Given the description of an element on the screen output the (x, y) to click on. 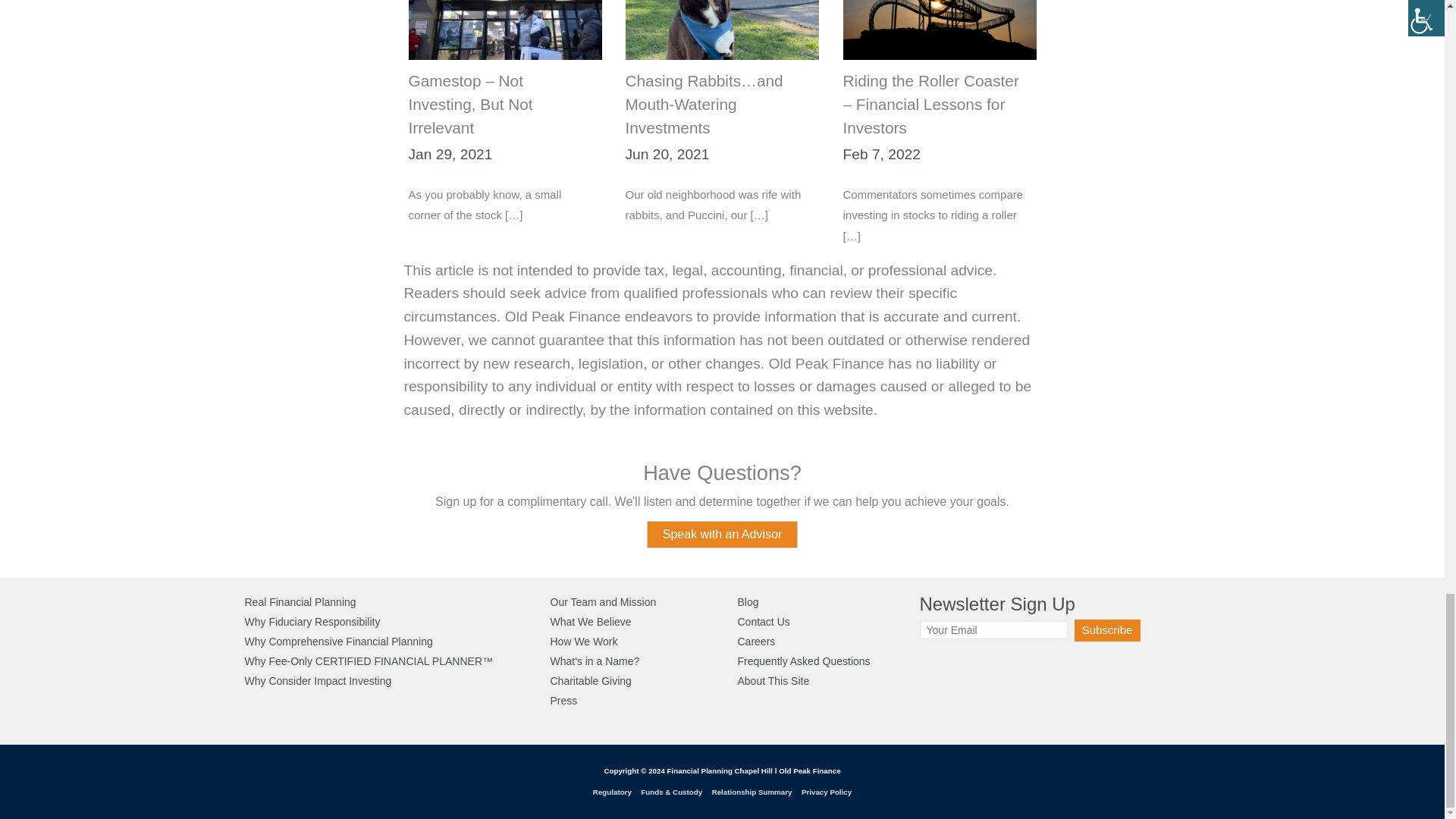
Why Consider Impact Investing (317, 680)
Our Team and Mission (603, 602)
Real Financial Planning (299, 602)
Why Fiduciary Responsibility (312, 621)
Speak with an Advisor (721, 533)
Why Comprehensive Financial Planning (338, 641)
